Given the description of an element on the screen output the (x, y) to click on. 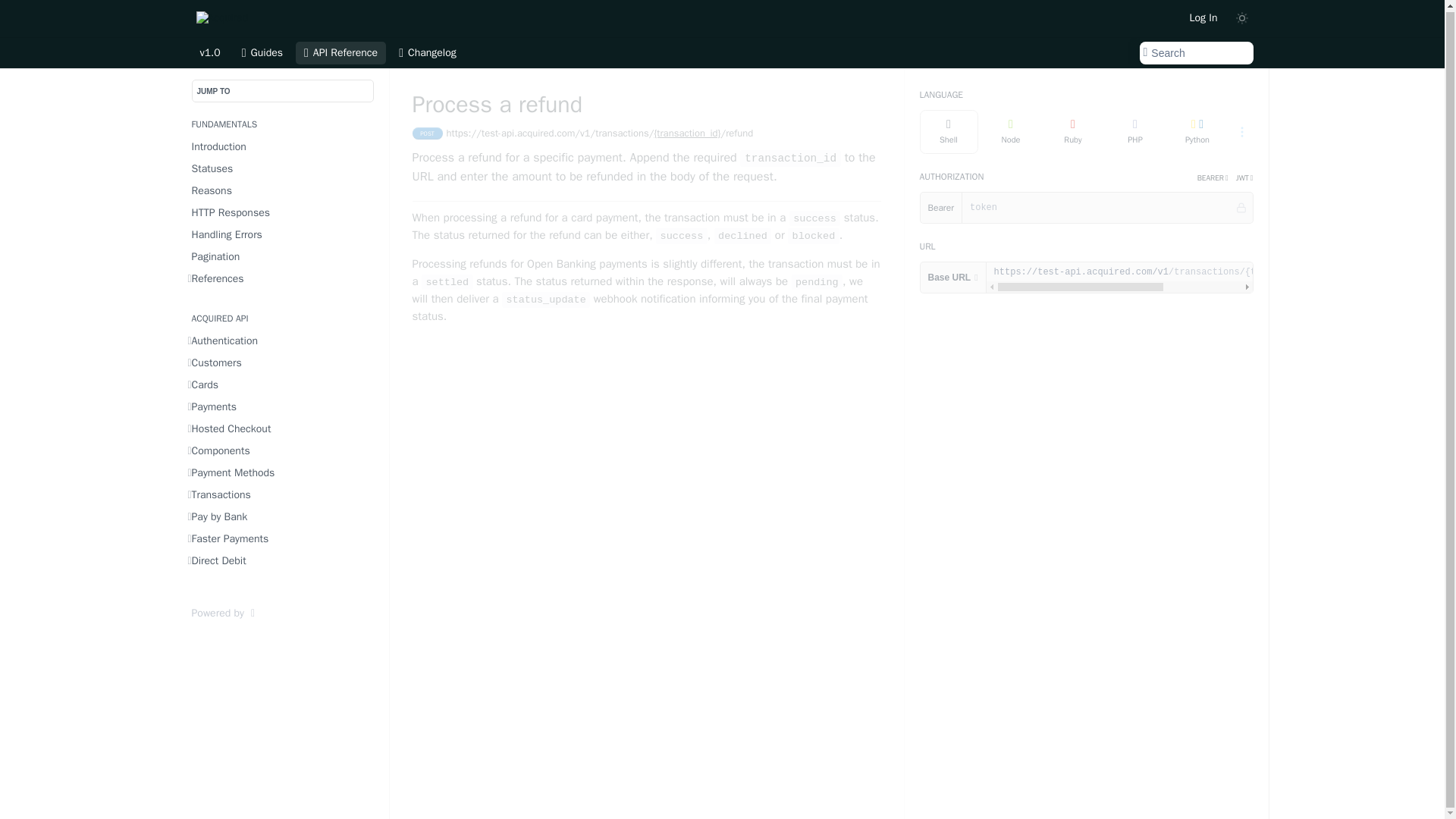
Introduction (282, 146)
Search (1195, 52)
Reasons (282, 190)
Pagination (282, 256)
HTTP Responses (282, 212)
Statuses (282, 168)
Handling Errors (282, 234)
Guides (261, 52)
Customers (282, 362)
JUMP TO (281, 90)
Cards (282, 384)
References (282, 278)
Log In (1202, 17)
API Reference (340, 52)
Changelog (427, 52)
